Given the description of an element on the screen output the (x, y) to click on. 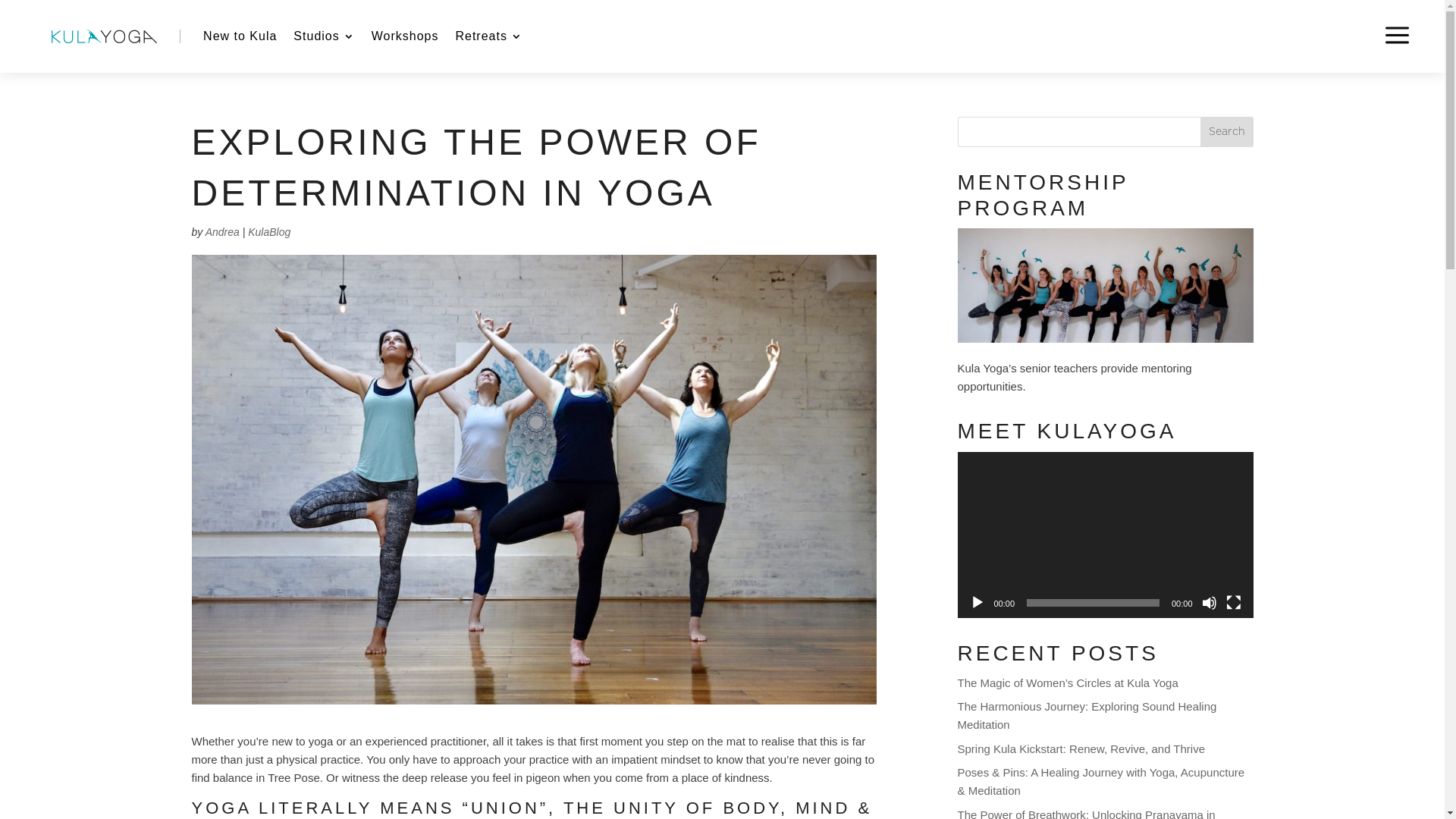
Spring Kula Kickstart: Renew, Revive, and Thrive Element type: text (1080, 748)
The Harmonious Journey: Exploring Sound Healing Meditation Element type: text (1086, 715)
New to Kula Element type: text (239, 36)
KulaBlog Element type: text (268, 231)
Play Element type: hover (976, 602)
Andrea Element type: text (222, 231)
Workshops Element type: text (405, 36)
Fullscreen Element type: hover (1232, 602)
Retreats Element type: text (488, 36)
Search Element type: text (1226, 131)
Studios Element type: text (323, 36)
Mute Element type: hover (1208, 602)
